Given the description of an element on the screen output the (x, y) to click on. 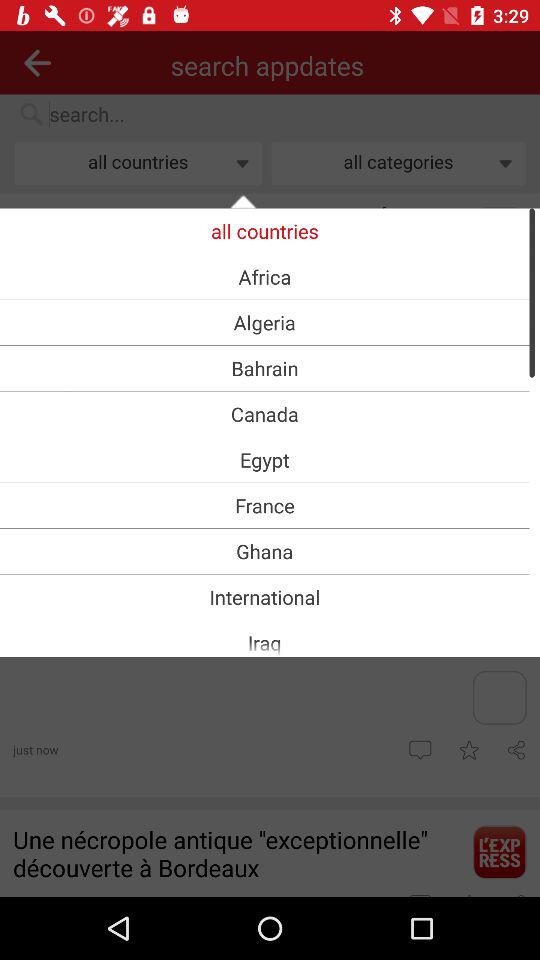
press canada (264, 413)
